Given the description of an element on the screen output the (x, y) to click on. 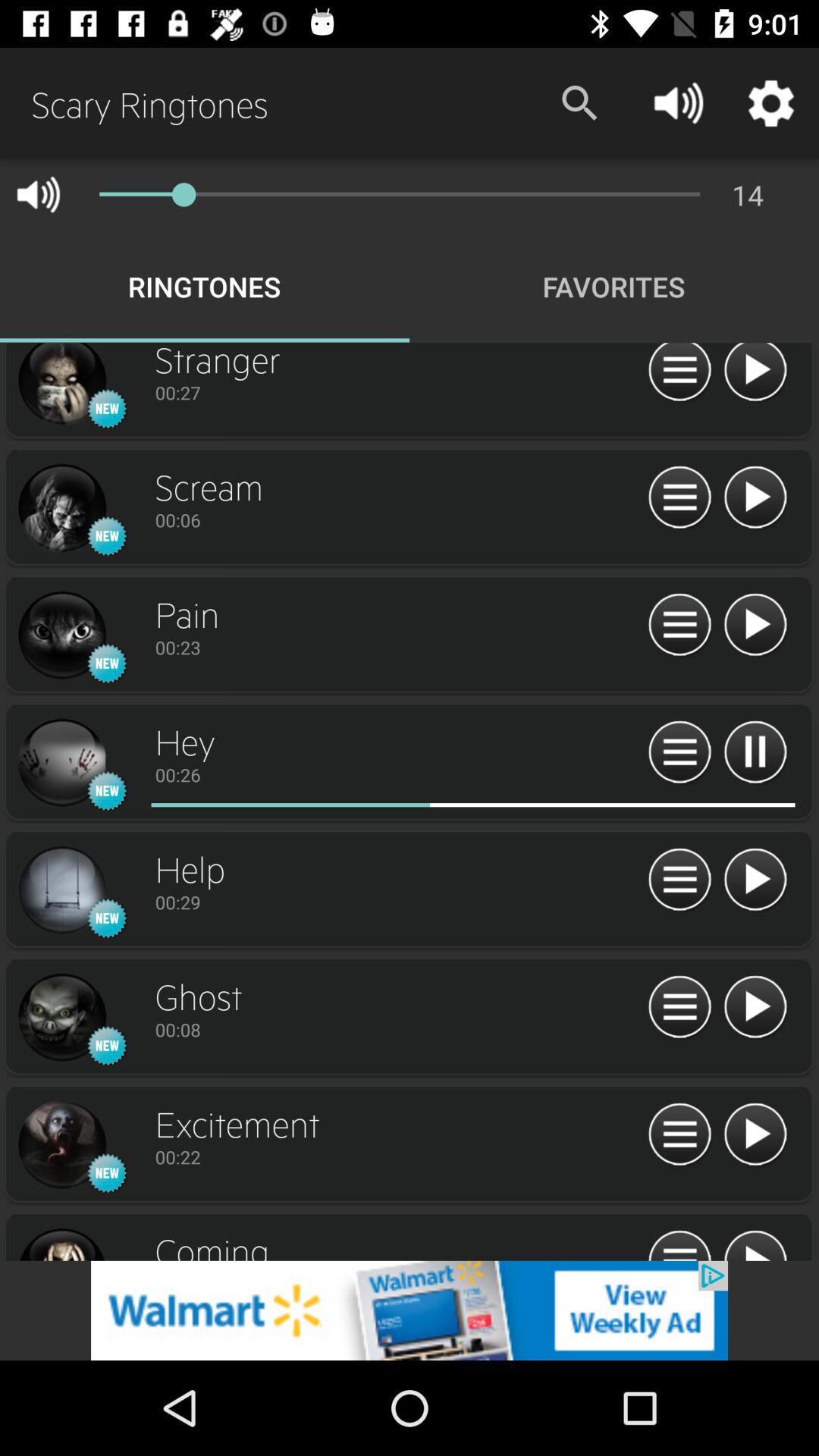
about information (679, 1007)
